Given the description of an element on the screen output the (x, y) to click on. 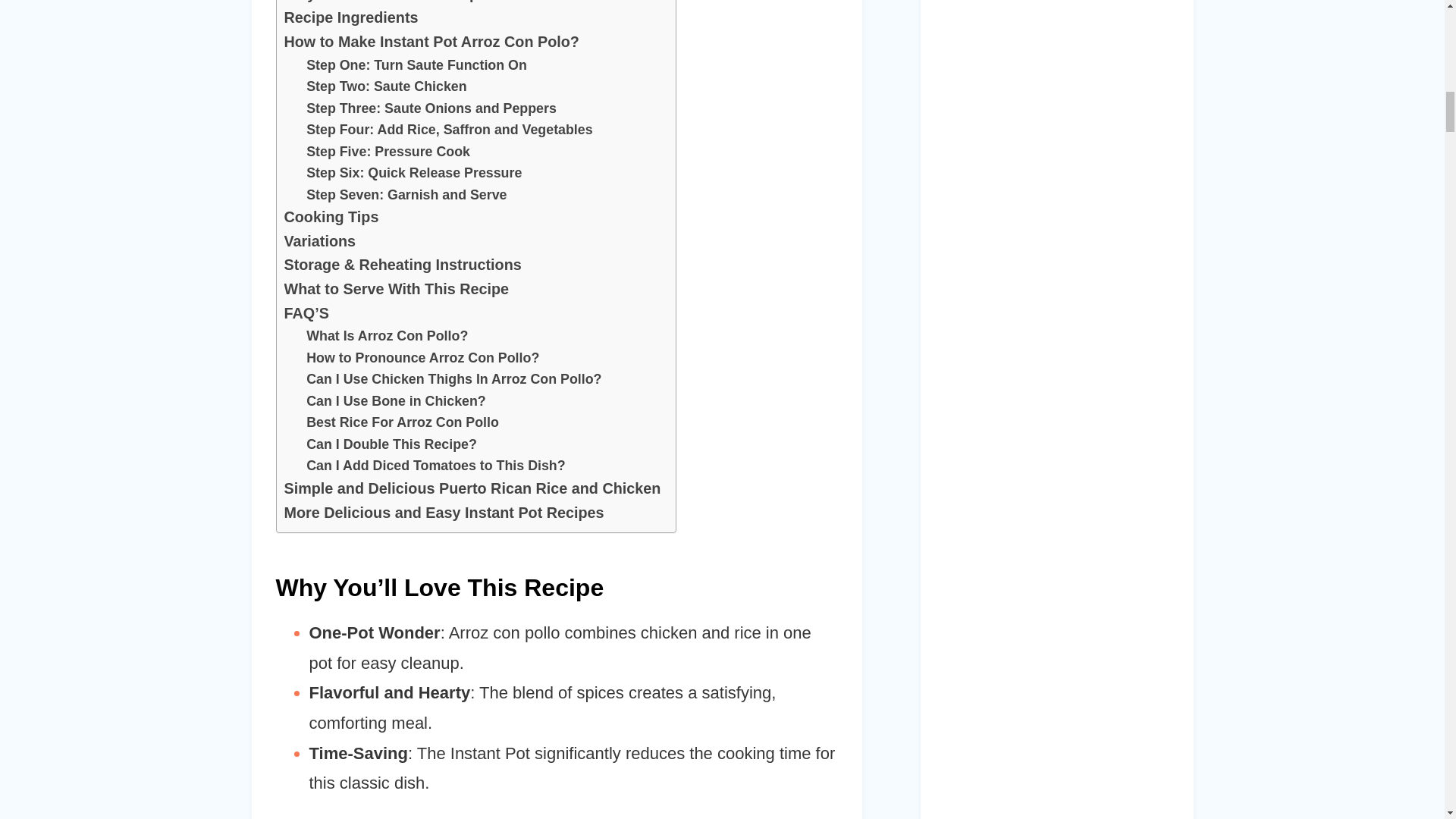
Can I Use Chicken Thighs In Arroz Con Pollo? (453, 379)
Step Six: Quick Release Pressure (413, 173)
Recipe Ingredients (350, 17)
Step Seven: Garnish and Serve (405, 195)
What Is Arroz Con Pollo? (386, 336)
How to Make Instant Pot Arroz Con Polo? (430, 42)
Can I Use Bone in Chicken? (395, 401)
Cooking Tips (330, 217)
Step Five: Pressure Cook (387, 151)
Step Four: Add Rice, Saffron and Vegetables (448, 129)
